Given the description of an element on the screen output the (x, y) to click on. 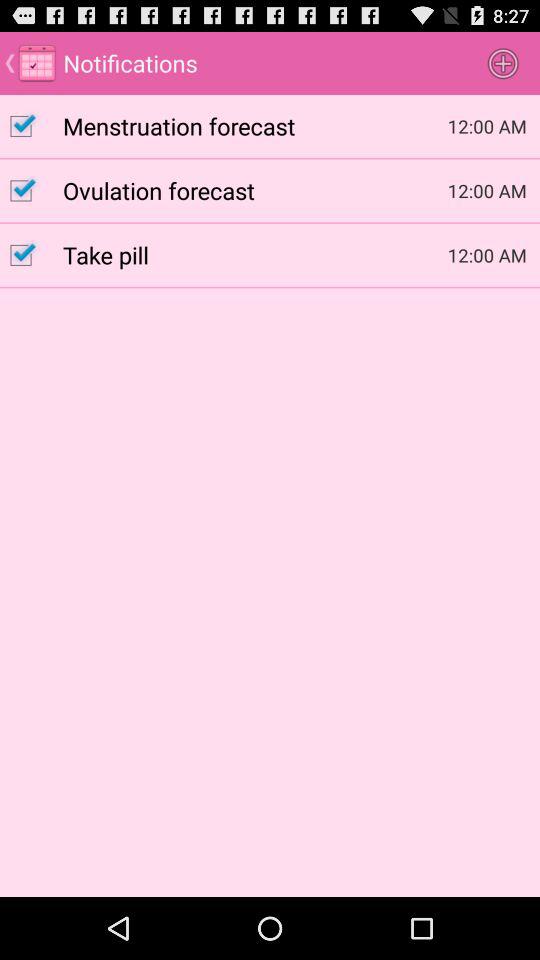
press the app to the left of 12:00 am (255, 190)
